Given the description of an element on the screen output the (x, y) to click on. 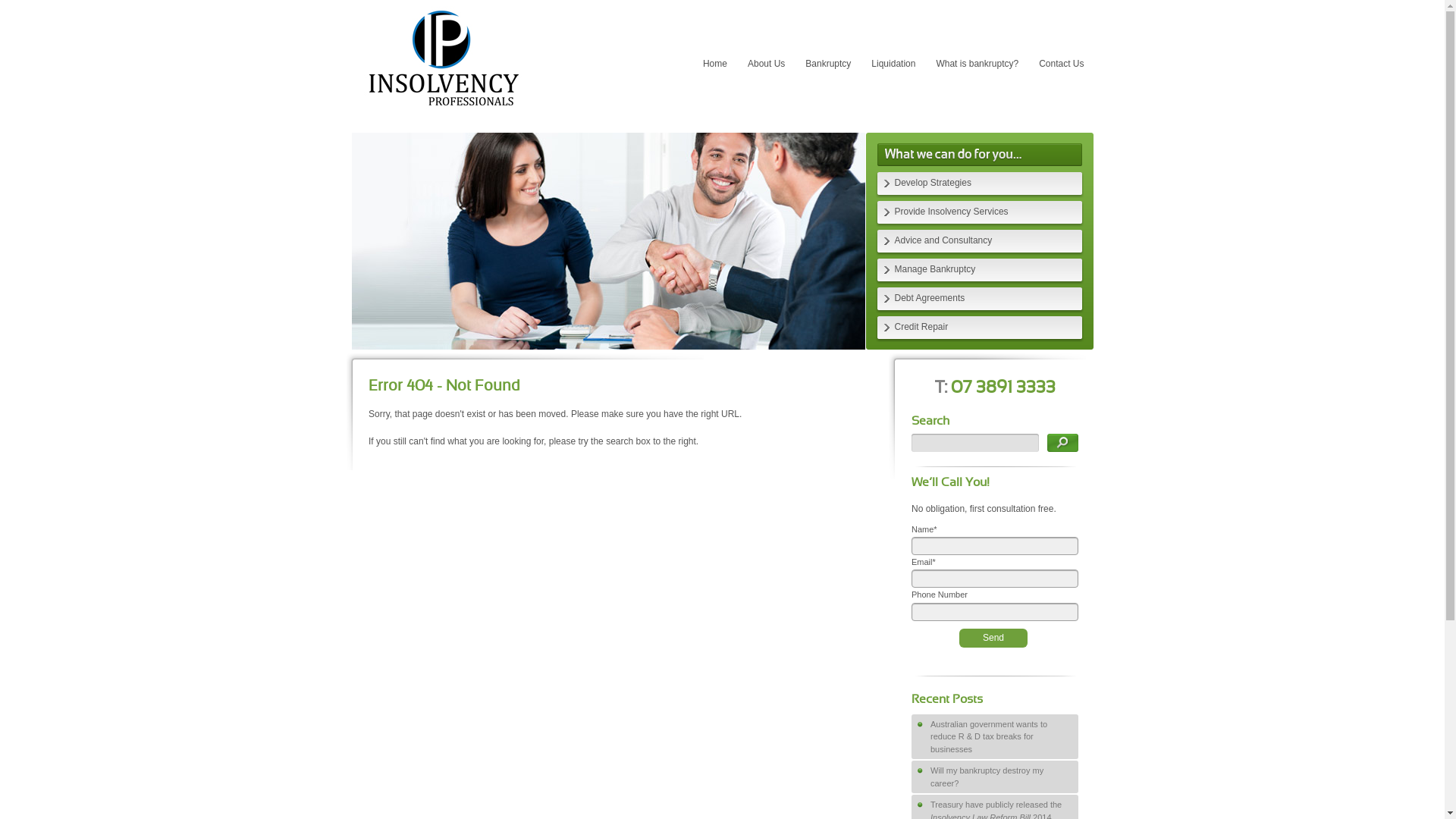
Will my bankruptcy destroy my career? Element type: text (994, 776)
002 Element type: hover (608, 240)
Send Element type: text (993, 636)
Insolvency Professionals Element type: hover (442, 114)
Liquidation Element type: text (893, 64)
Contact Us Element type: text (1060, 64)
Home Element type: text (714, 64)
Search Element type: text (1062, 442)
Bankruptcy Element type: text (827, 64)
About Us Element type: text (765, 64)
What is bankruptcy? Element type: text (976, 64)
